Given the description of an element on the screen output the (x, y) to click on. 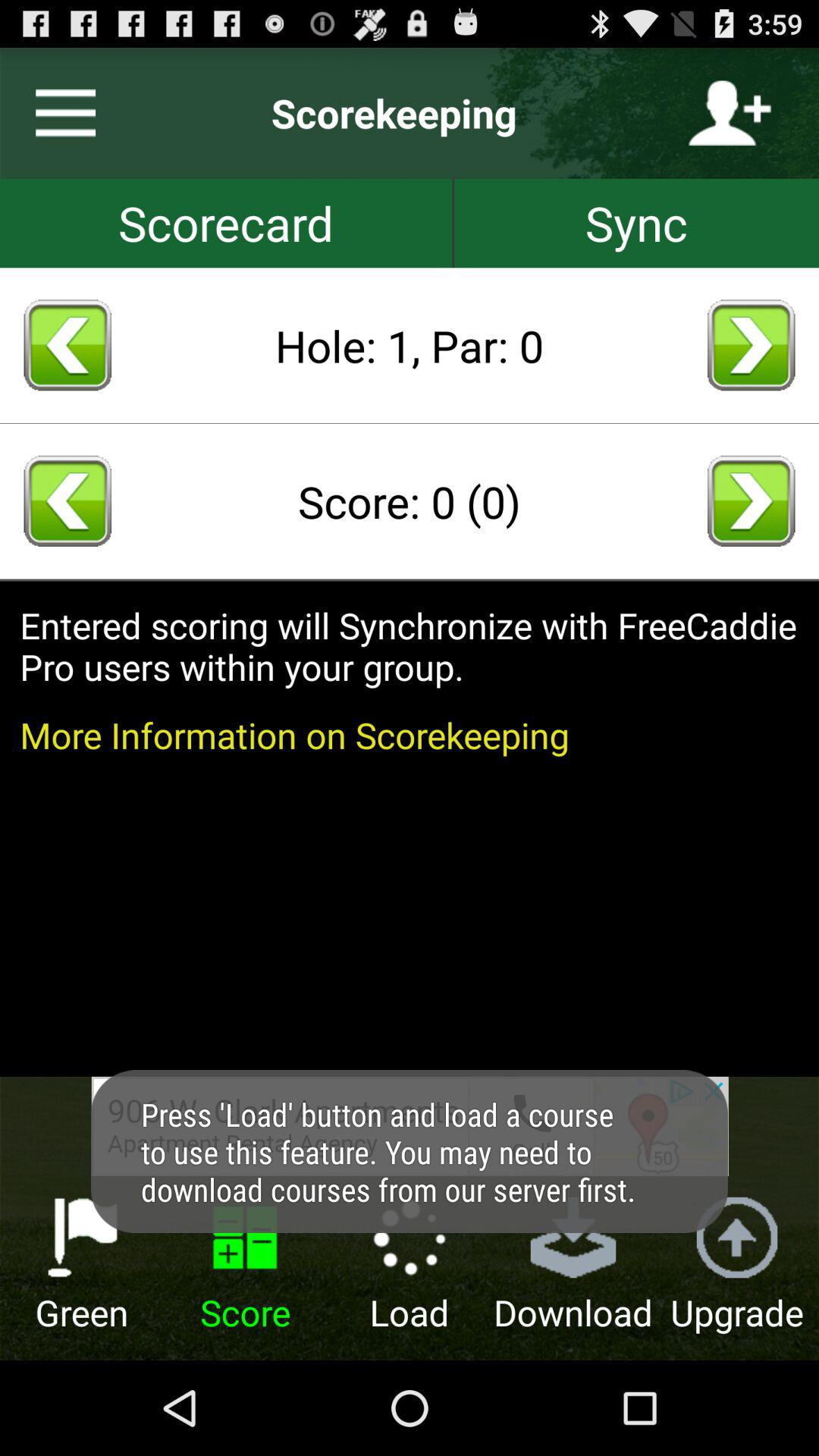
return hole (67, 344)
